Given the description of an element on the screen output the (x, y) to click on. 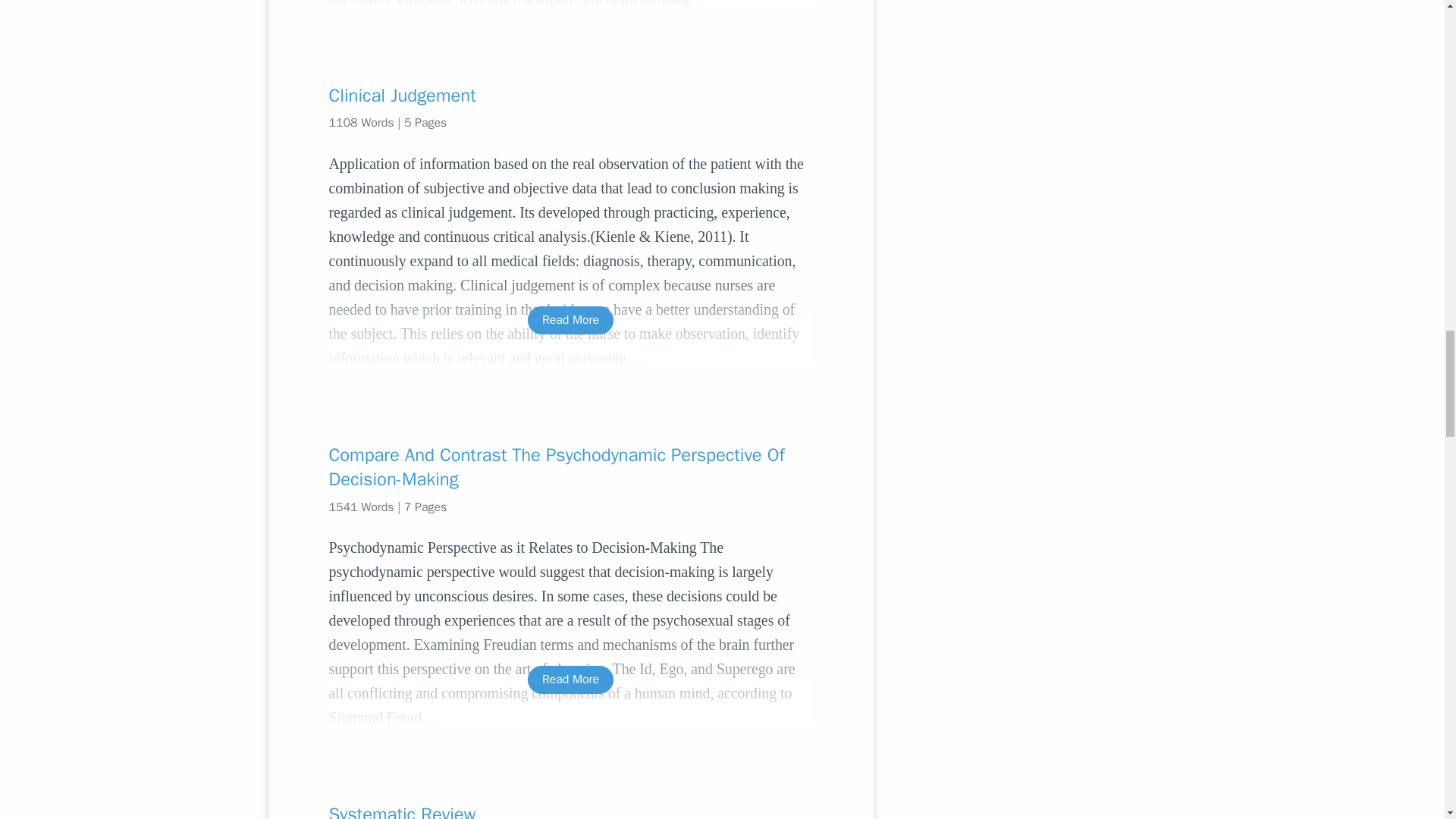
Read More (569, 320)
Systematic Review (570, 810)
Clinical Judgement (570, 95)
Read More (569, 679)
